Given the description of an element on the screen output the (x, y) to click on. 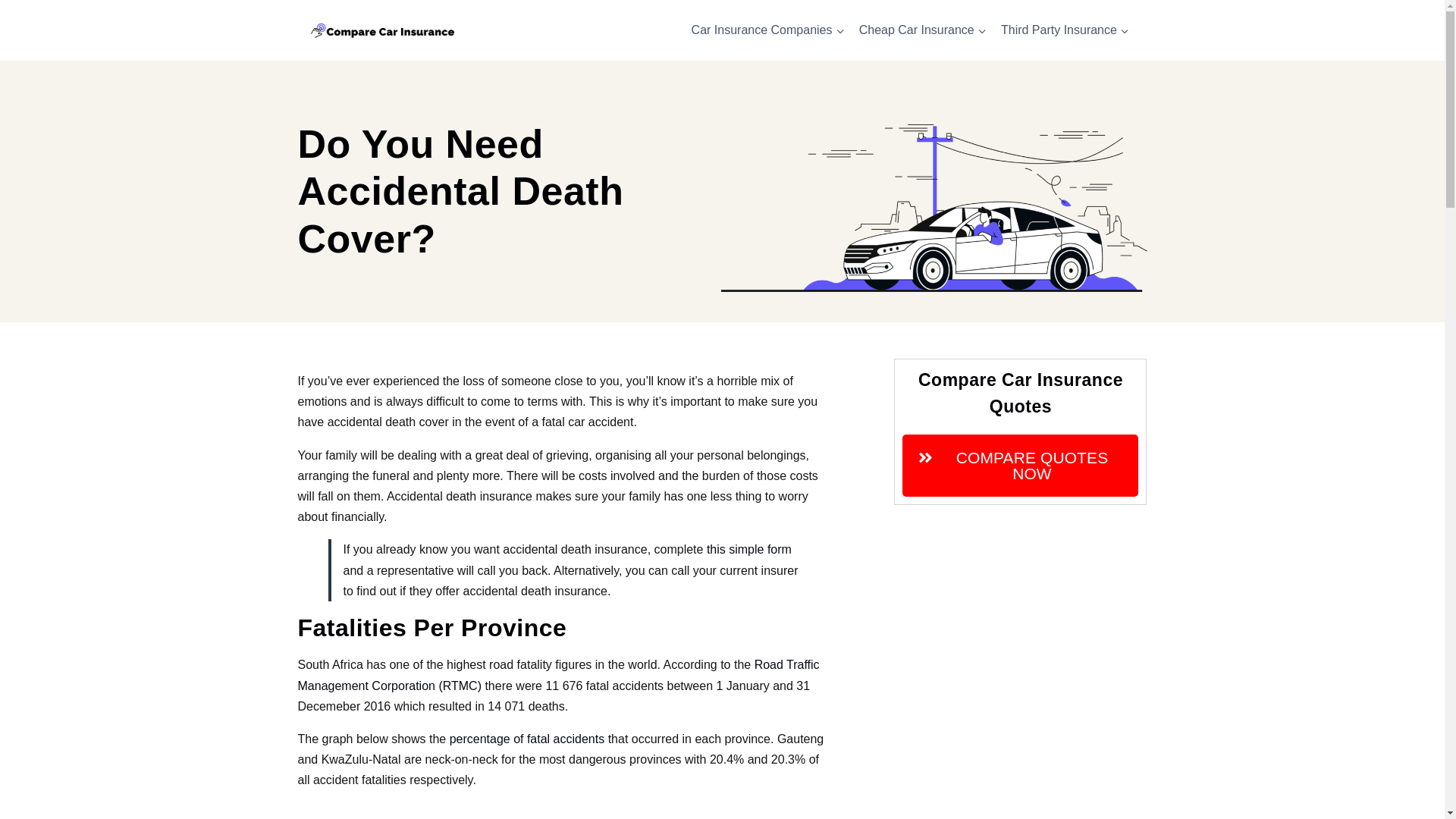
Third Party Insurance (1063, 30)
Cheap Car Insurance (921, 30)
Car Insurance Companies (767, 30)
